Given the description of an element on the screen output the (x, y) to click on. 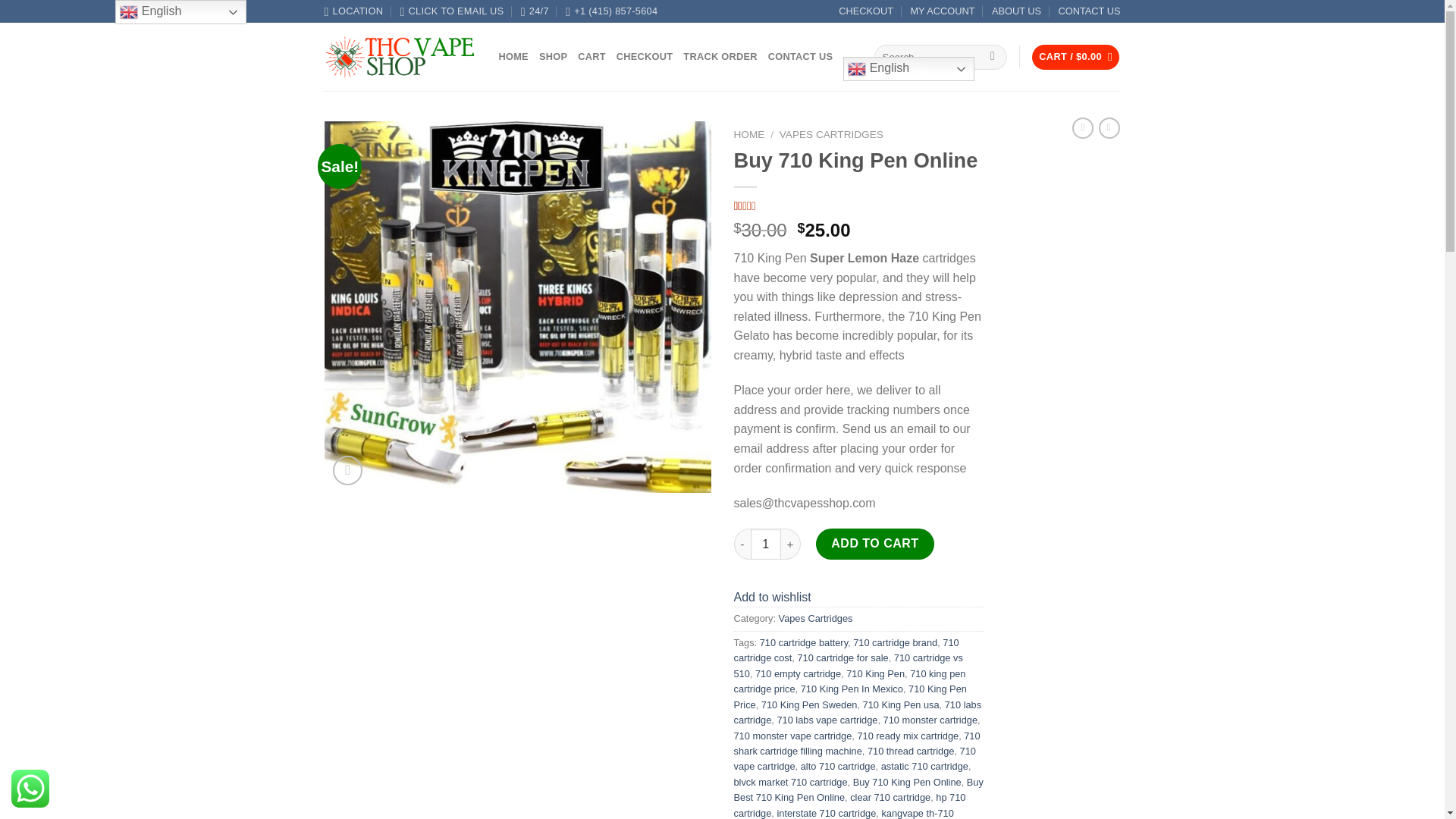
ABOUT US (1016, 11)
HOME (513, 56)
CONTACT US (1088, 11)
TRACK ORDER (719, 56)
CONTACT US (800, 56)
SHOP (552, 56)
MY ACCOUNT (942, 11)
CHECKOUT (643, 56)
LOCATION (354, 11)
CLICK TO EMAIL US (451, 11)
